Given the description of an element on the screen output the (x, y) to click on. 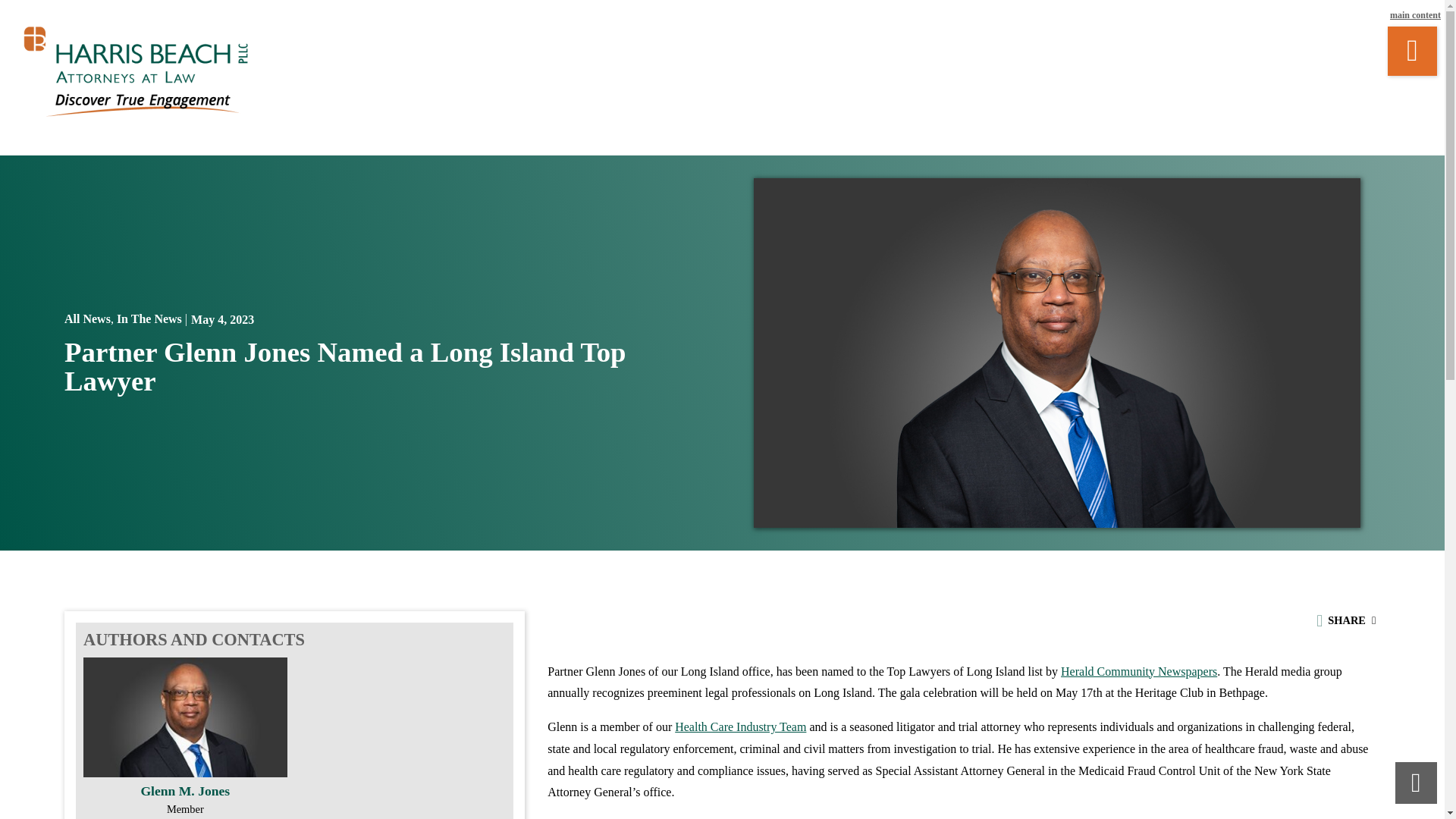
main content (1415, 14)
